Given the description of an element on the screen output the (x, y) to click on. 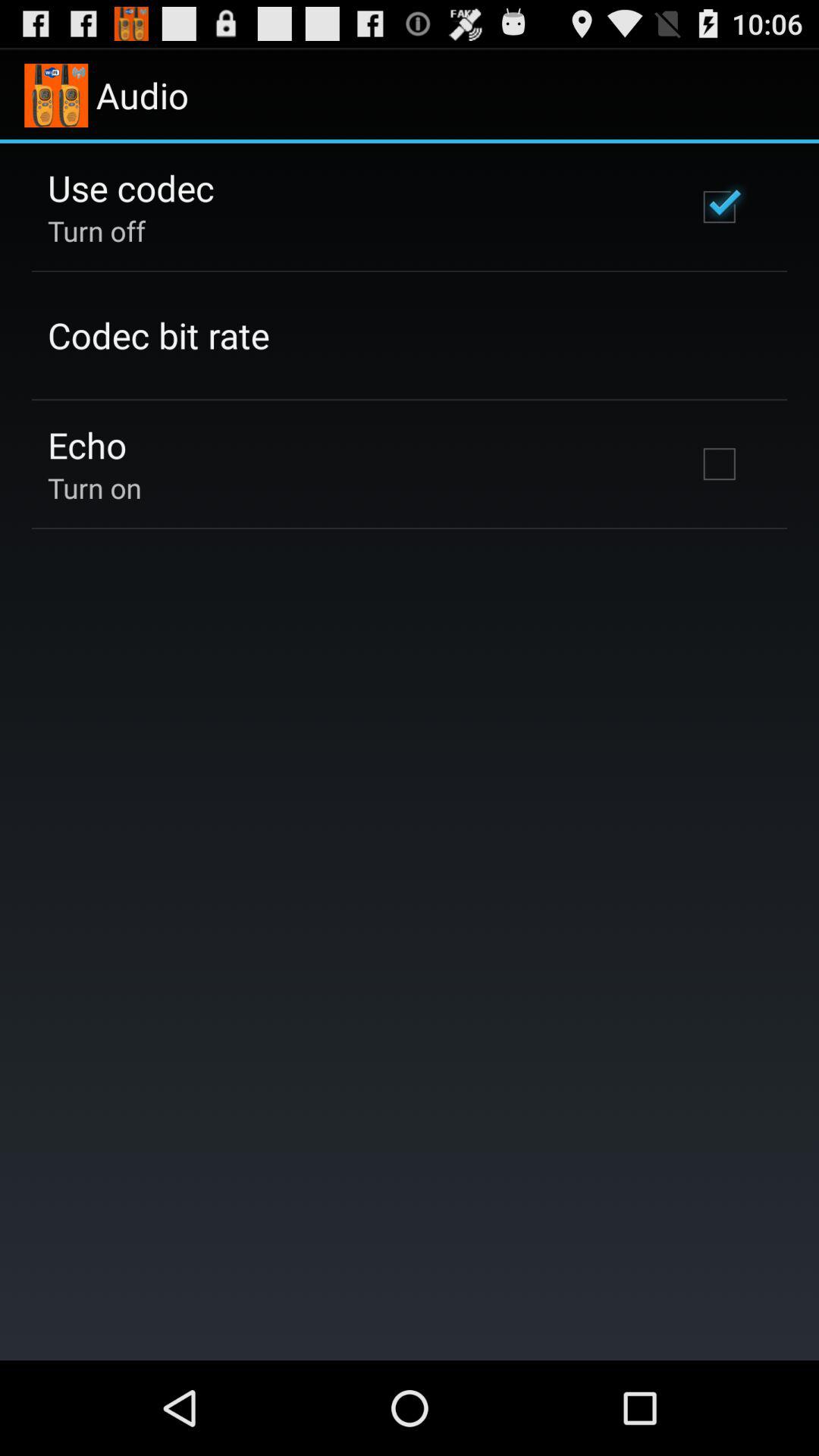
select item above the turn on item (86, 444)
